Given the description of an element on the screen output the (x, y) to click on. 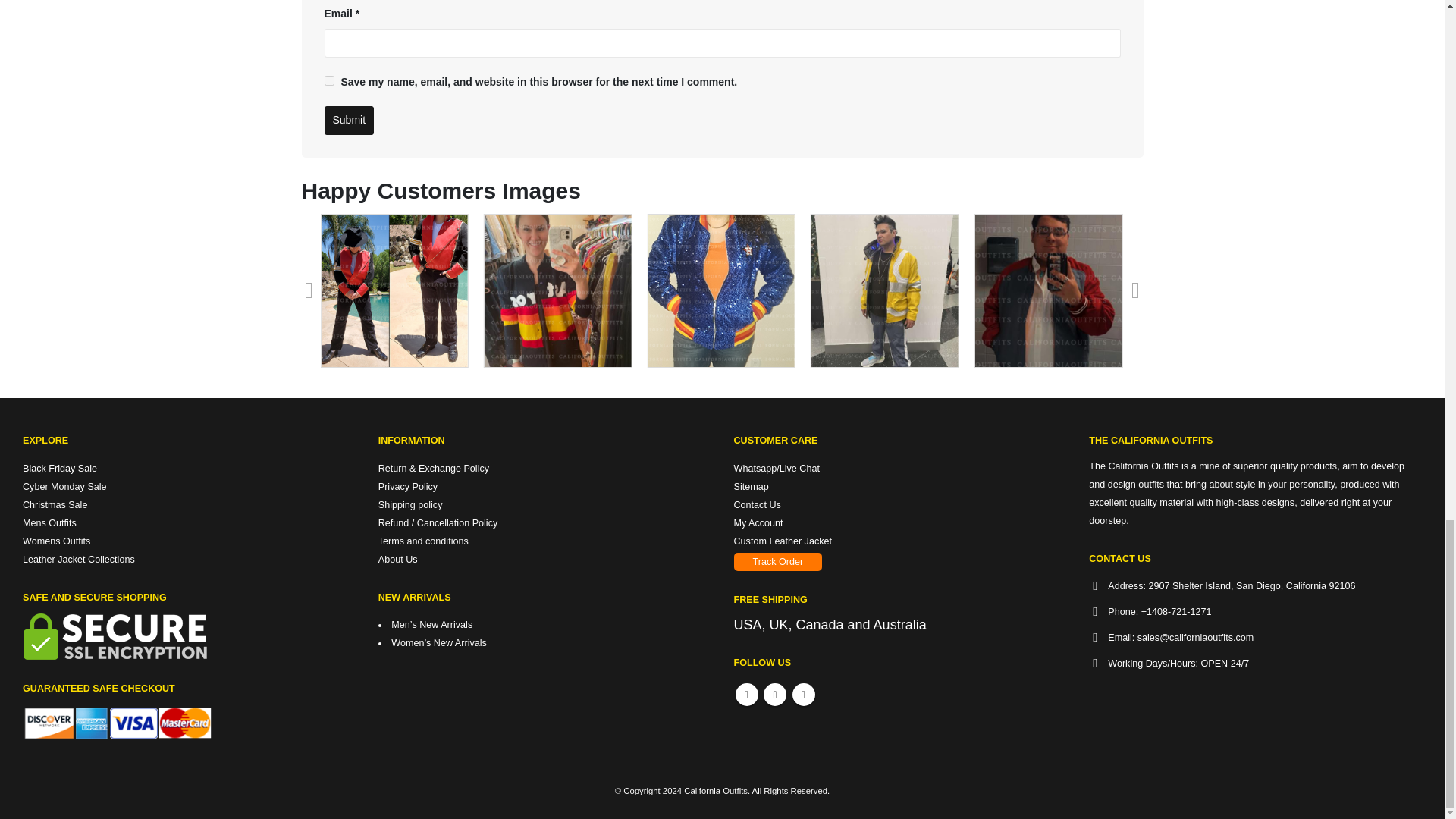
Submit (349, 120)
Black Friday Sale (60, 468)
Womens Outfits (56, 541)
Leather Jacket Collections (79, 559)
Submit (349, 120)
Mens Outfits (50, 522)
Christmas Sale (55, 504)
Black Friday Sale (60, 468)
Cyber Monday Sale (64, 486)
Cyber Monday Sale (64, 486)
Mens Outfits (50, 522)
Leather Jacket Collections (79, 559)
Womens Outfits (56, 541)
Privacy Policy (408, 486)
Shipping policy (410, 504)
